Given the description of an element on the screen output the (x, y) to click on. 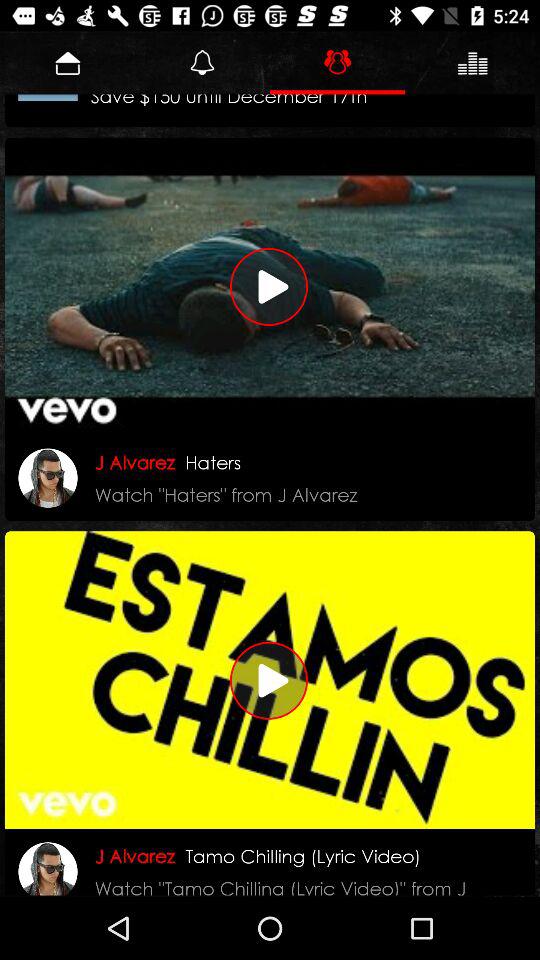
go to play (269, 286)
